Given the description of an element on the screen output the (x, y) to click on. 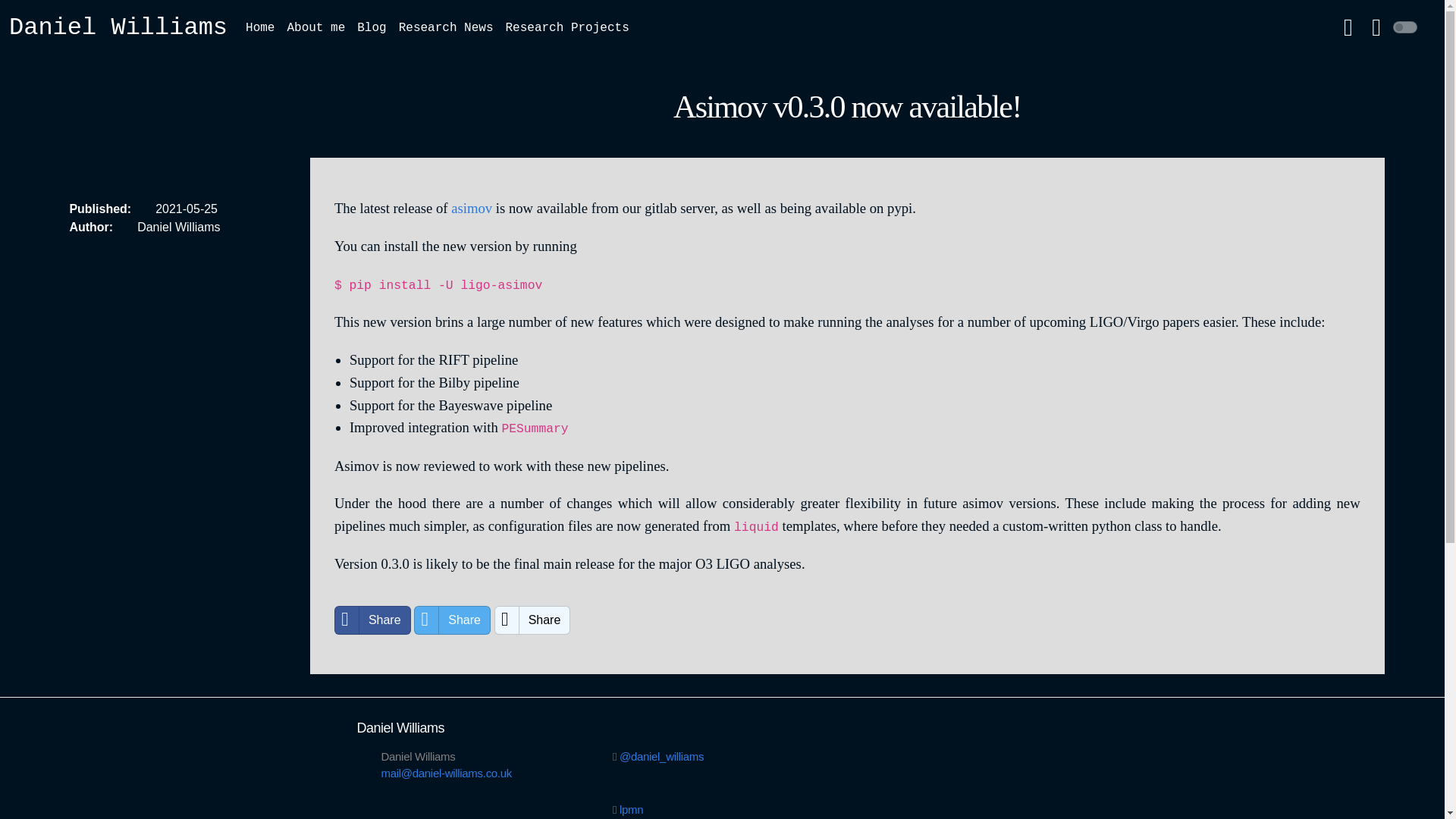
Share on Reddit (532, 620)
Share on Twitter (451, 620)
Share (451, 620)
Share on Facebook (372, 620)
About me (315, 28)
Research News (446, 28)
Research Projects (566, 28)
Home (260, 28)
Daniel Williams (117, 27)
Share (372, 620)
